Given the description of an element on the screen output the (x, y) to click on. 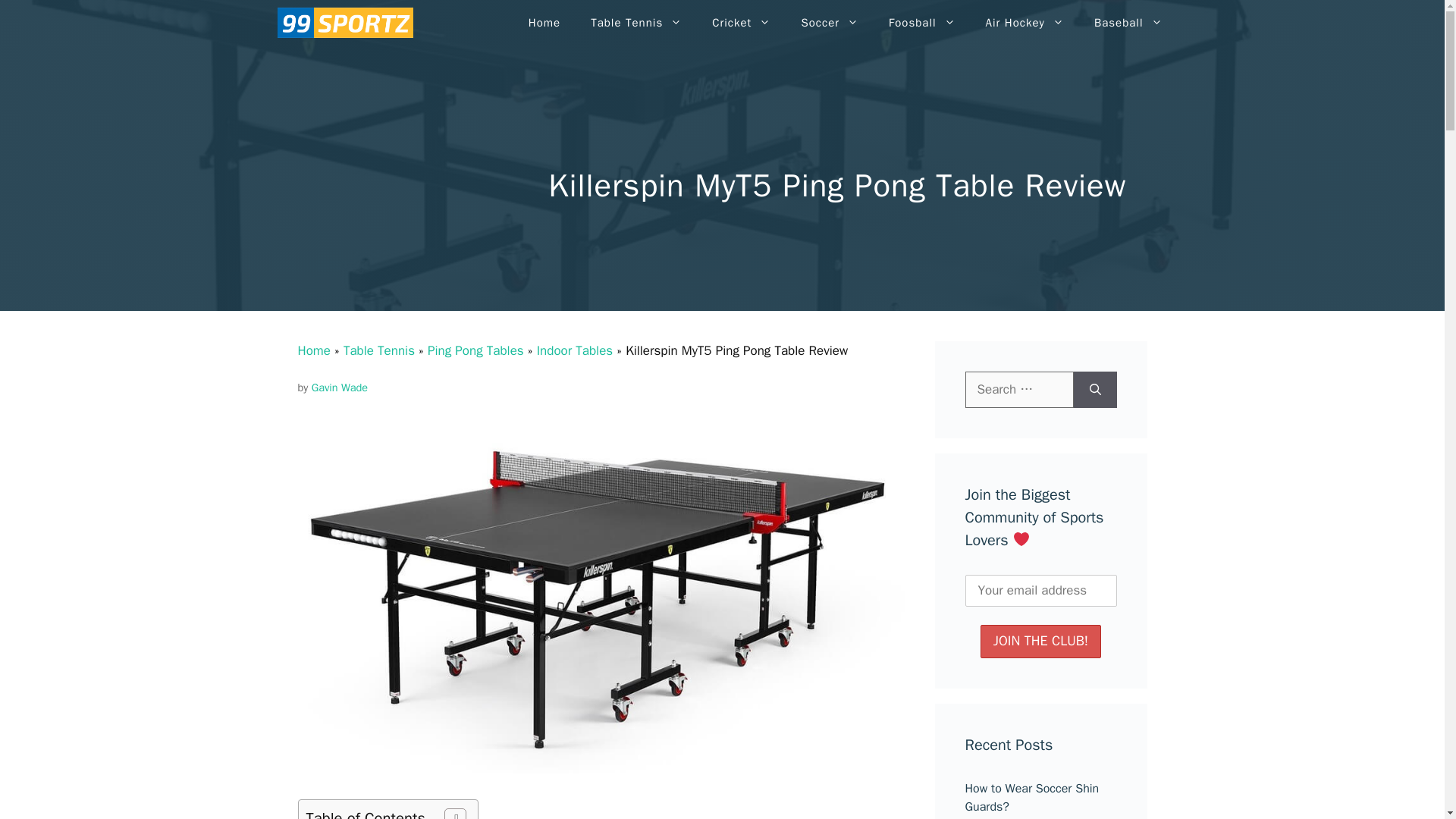
View all posts by Gavin Wade (339, 386)
Cricket (741, 22)
Table Tennis (636, 22)
99Sportz (342, 22)
Join The Club! (1040, 641)
Home (544, 22)
